Given the description of an element on the screen output the (x, y) to click on. 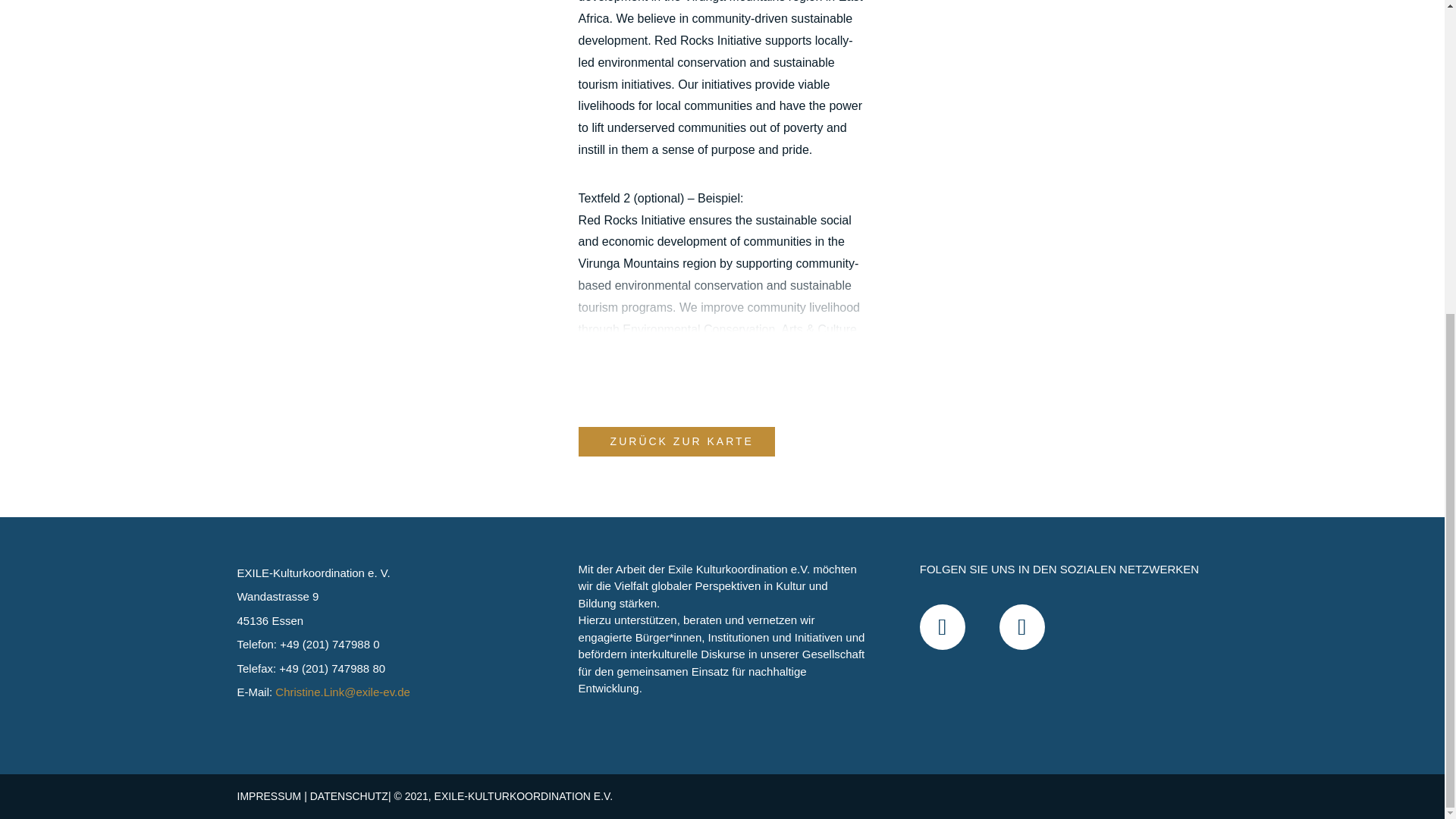
Folge auf Youtube (1021, 627)
Folge auf Instagram (942, 627)
